Given the description of an element on the screen output the (x, y) to click on. 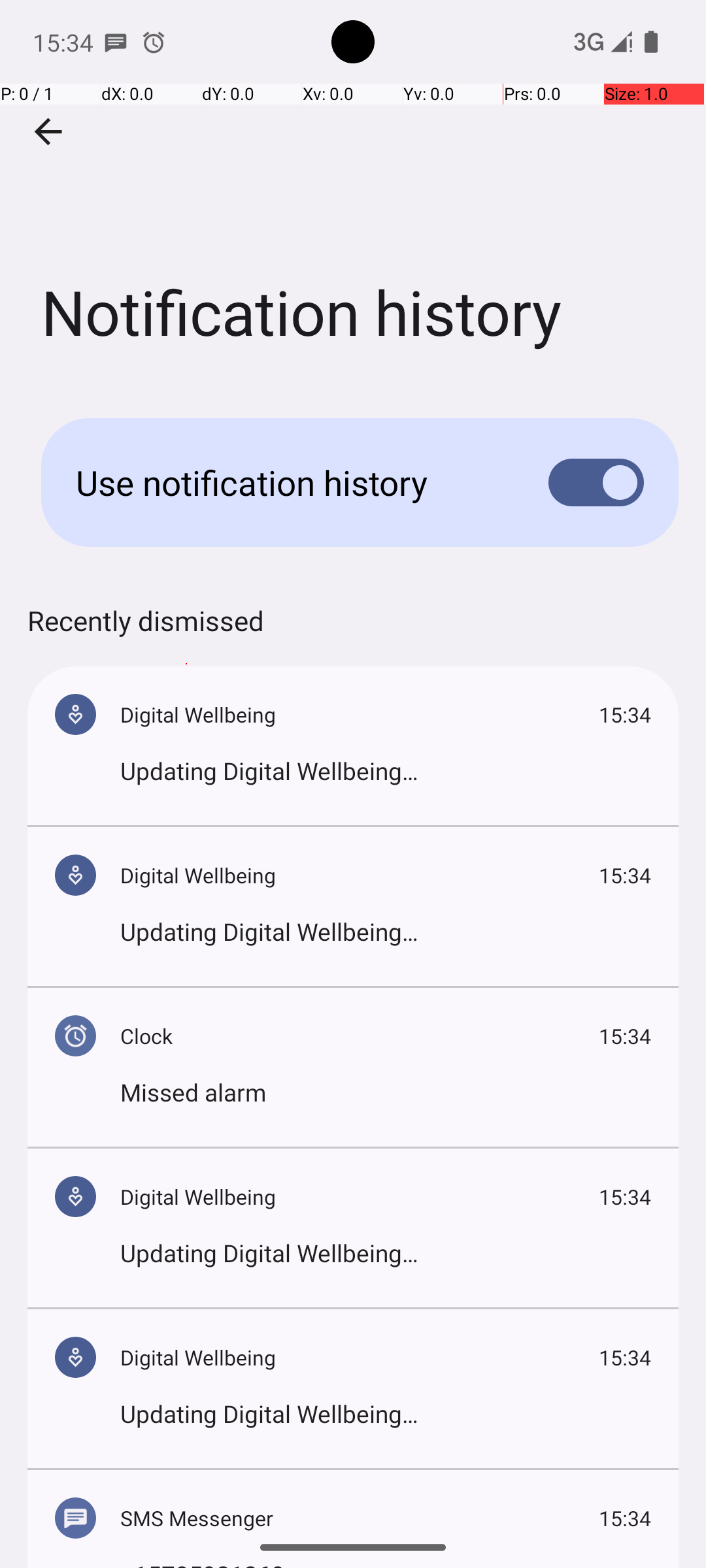
Recently dismissed Element type: android.widget.TextView (145, 633)
Updating Digital Wellbeing… Element type: android.widget.TextView (385, 770)
Missed alarm Element type: android.widget.TextView (385, 1091)
